Given the description of an element on the screen output the (x, y) to click on. 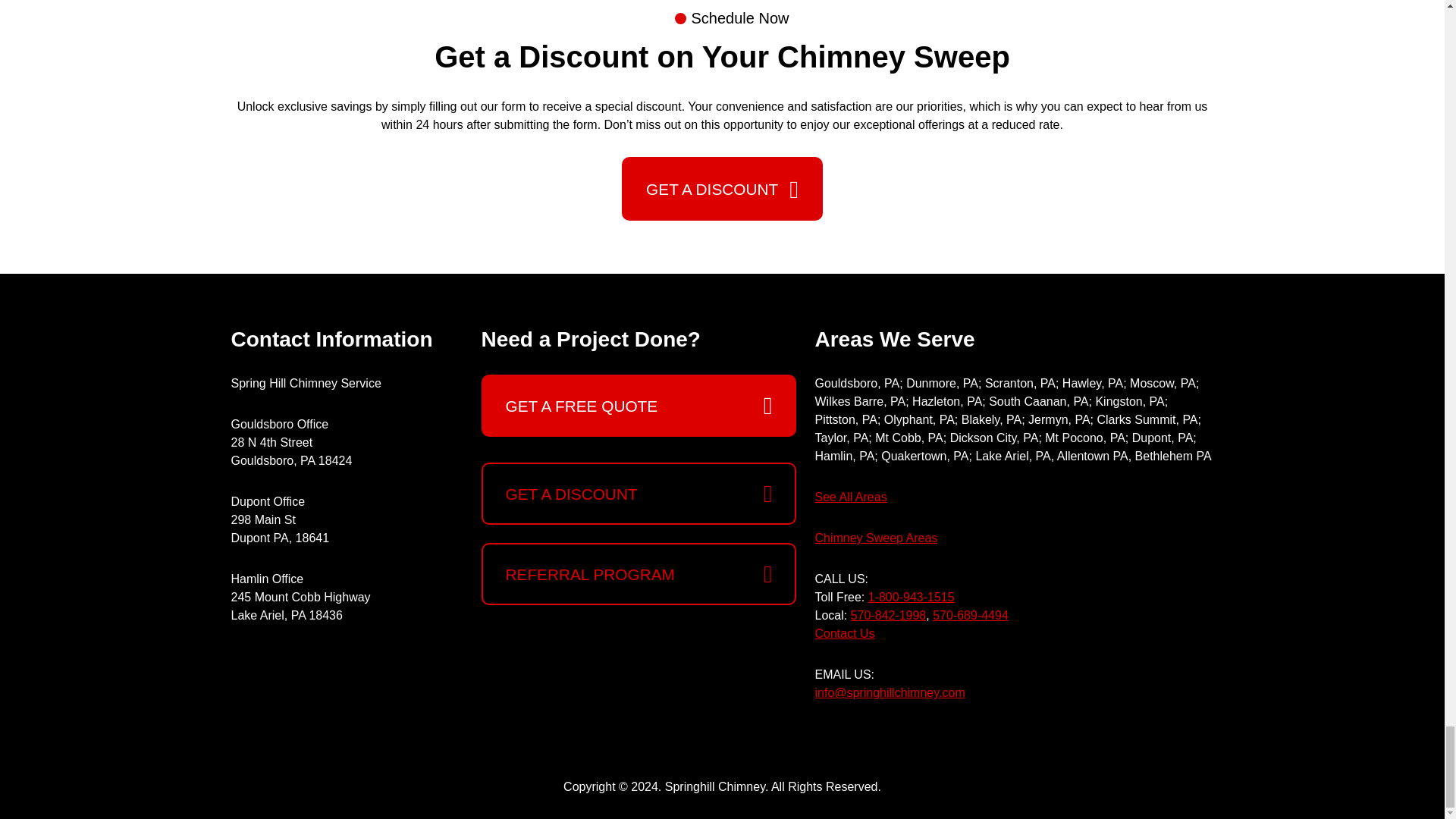
570-689-4494 (971, 615)
REFERRAL PROGRAM (638, 573)
GET A FREE QUOTE (638, 405)
GET A DISCOUNT (721, 188)
Chimney Sweep Areas (875, 537)
570-842-1998 (888, 615)
GET A DISCOUNT (638, 493)
Contact Us (844, 633)
See All Areas (849, 496)
1-800-943-1515 (911, 596)
